Given the description of an element on the screen output the (x, y) to click on. 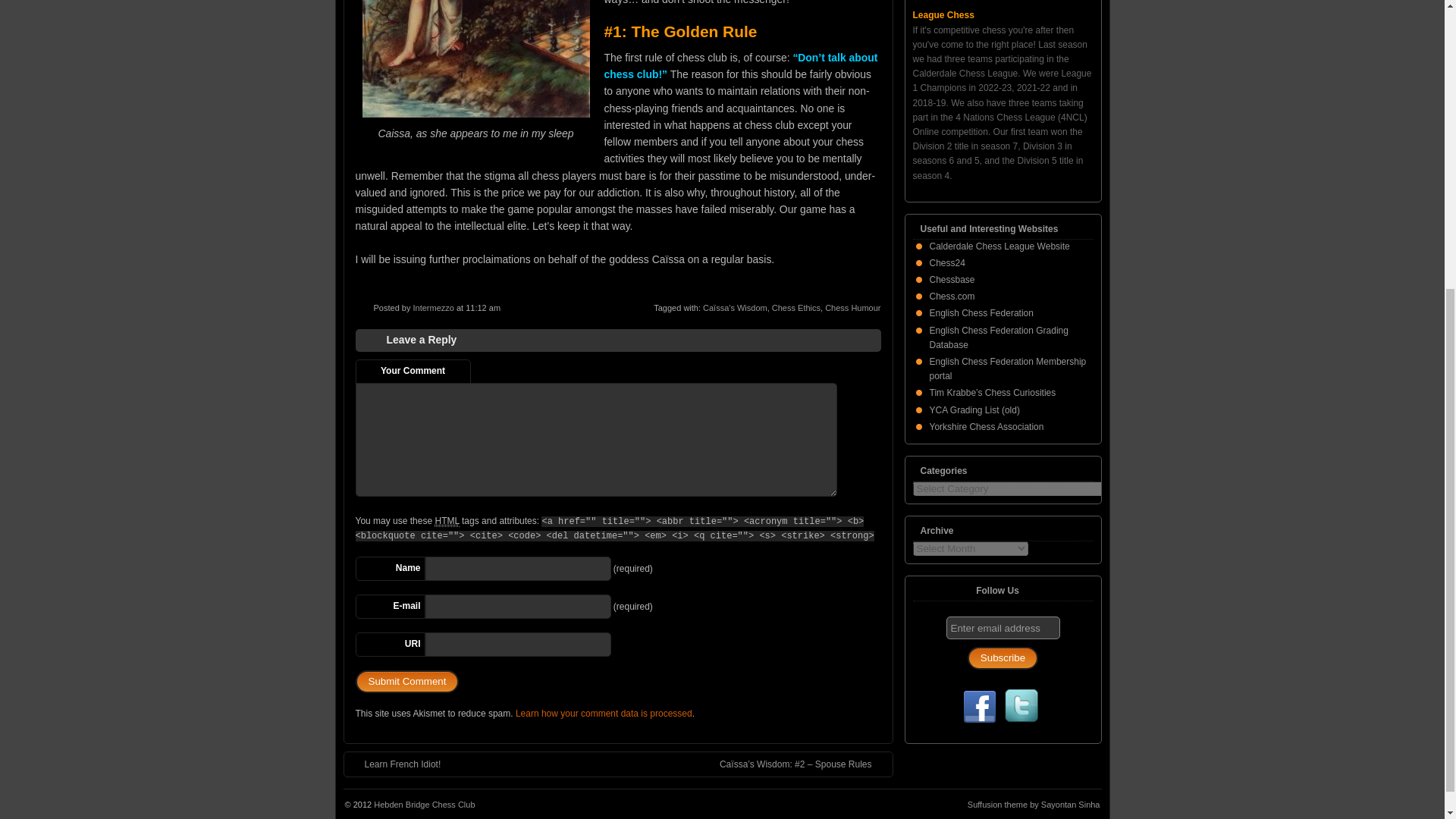
Chess Humour (852, 307)
  Learn French Idiot! (395, 764)
English Chess Federation Membership portal (1008, 368)
Chessbase (952, 279)
Learn how your comment data is processed (604, 713)
Subscribe (1003, 658)
Chess Ethics (796, 307)
Chess24 (947, 262)
Hebden Bridge Chess Club (424, 804)
HyperText Markup Language (445, 521)
Intermezzo (432, 307)
Chess.com (952, 296)
Caissa (475, 58)
Facebook (978, 708)
English Chess Federation Grading Database (999, 337)
